Given the description of an element on the screen output the (x, y) to click on. 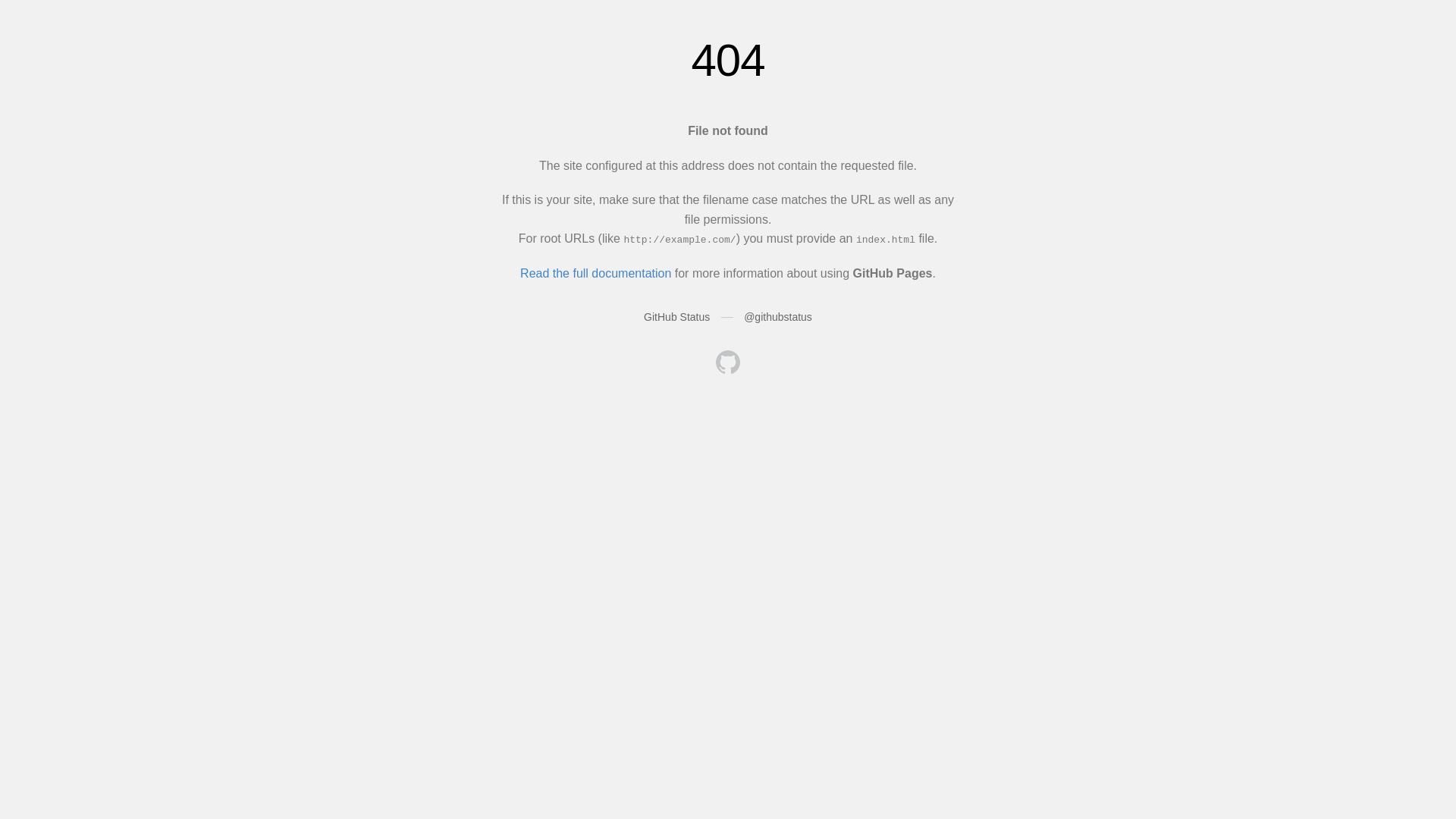
Read the full documentation Element type: text (595, 272)
GitHub Status Element type: text (676, 316)
@githubstatus Element type: text (777, 316)
